Given the description of an element on the screen output the (x, y) to click on. 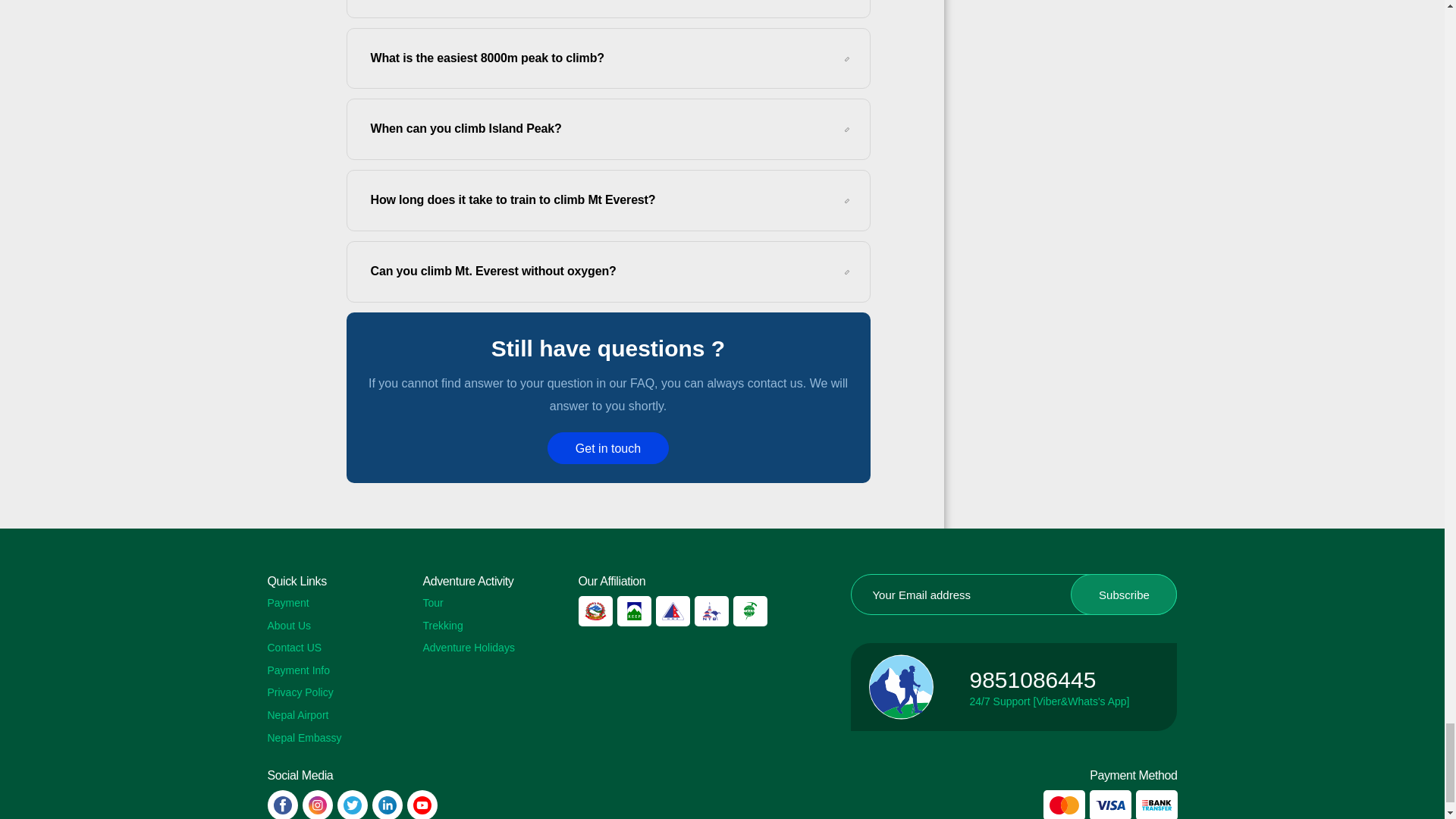
Subscribe (1123, 594)
Get in touch (607, 448)
